Given the description of an element on the screen output the (x, y) to click on. 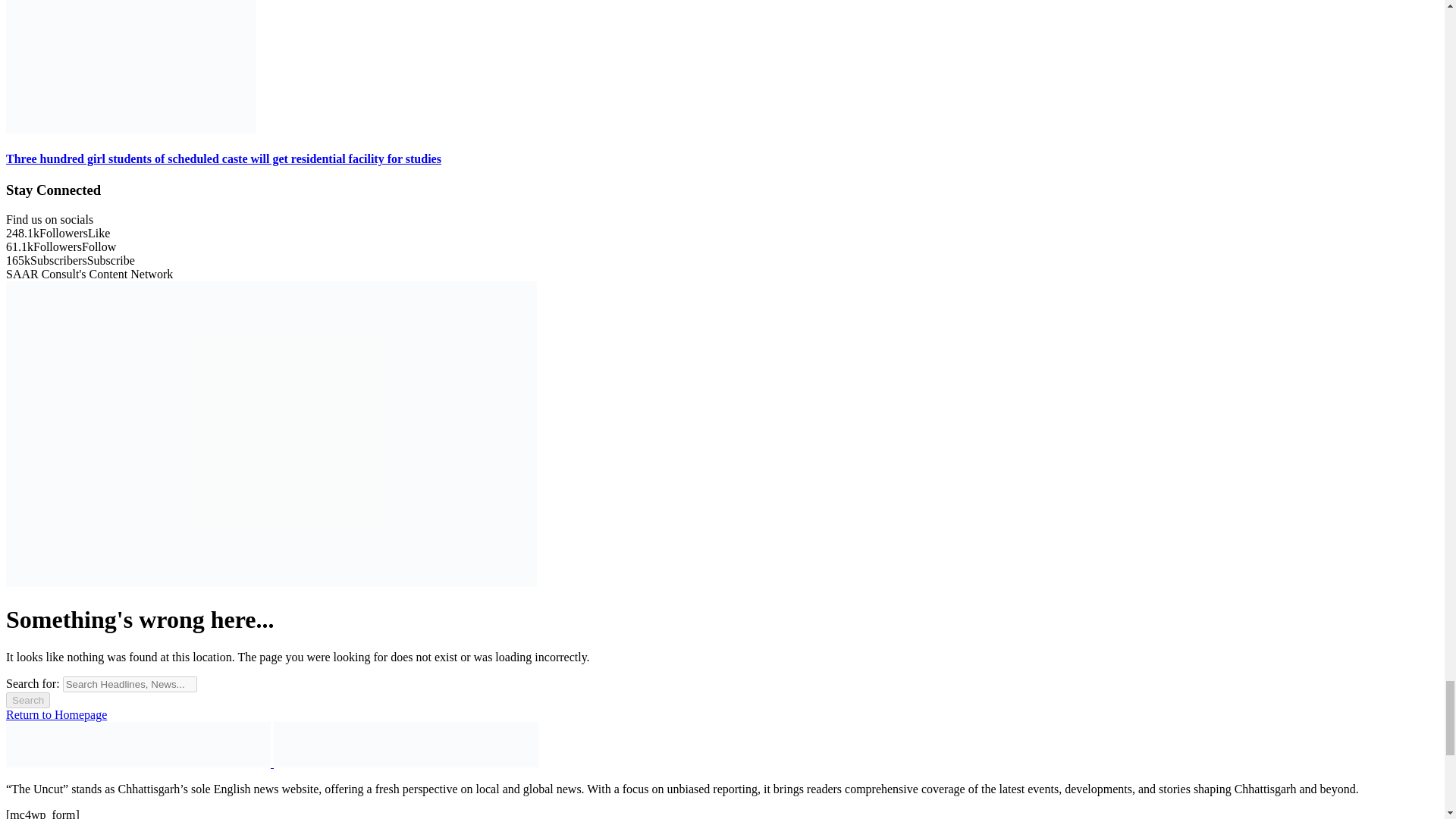
Return to Homepage (55, 714)
Search (27, 700)
Search (27, 700)
